Given the description of an element on the screen output the (x, y) to click on. 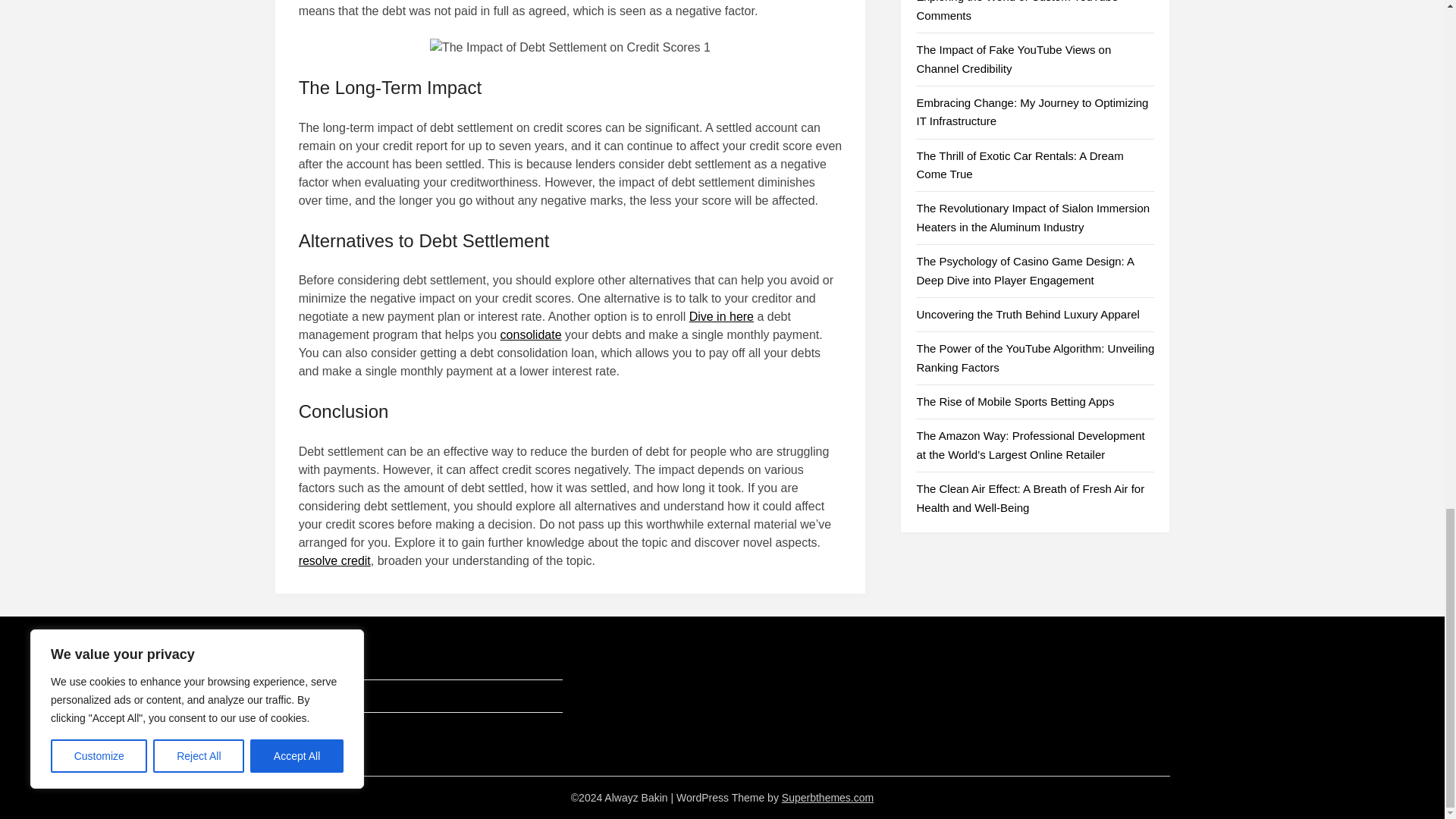
consolidate (531, 334)
resolve credit (334, 560)
Dive in here (721, 316)
